Given the description of an element on the screen output the (x, y) to click on. 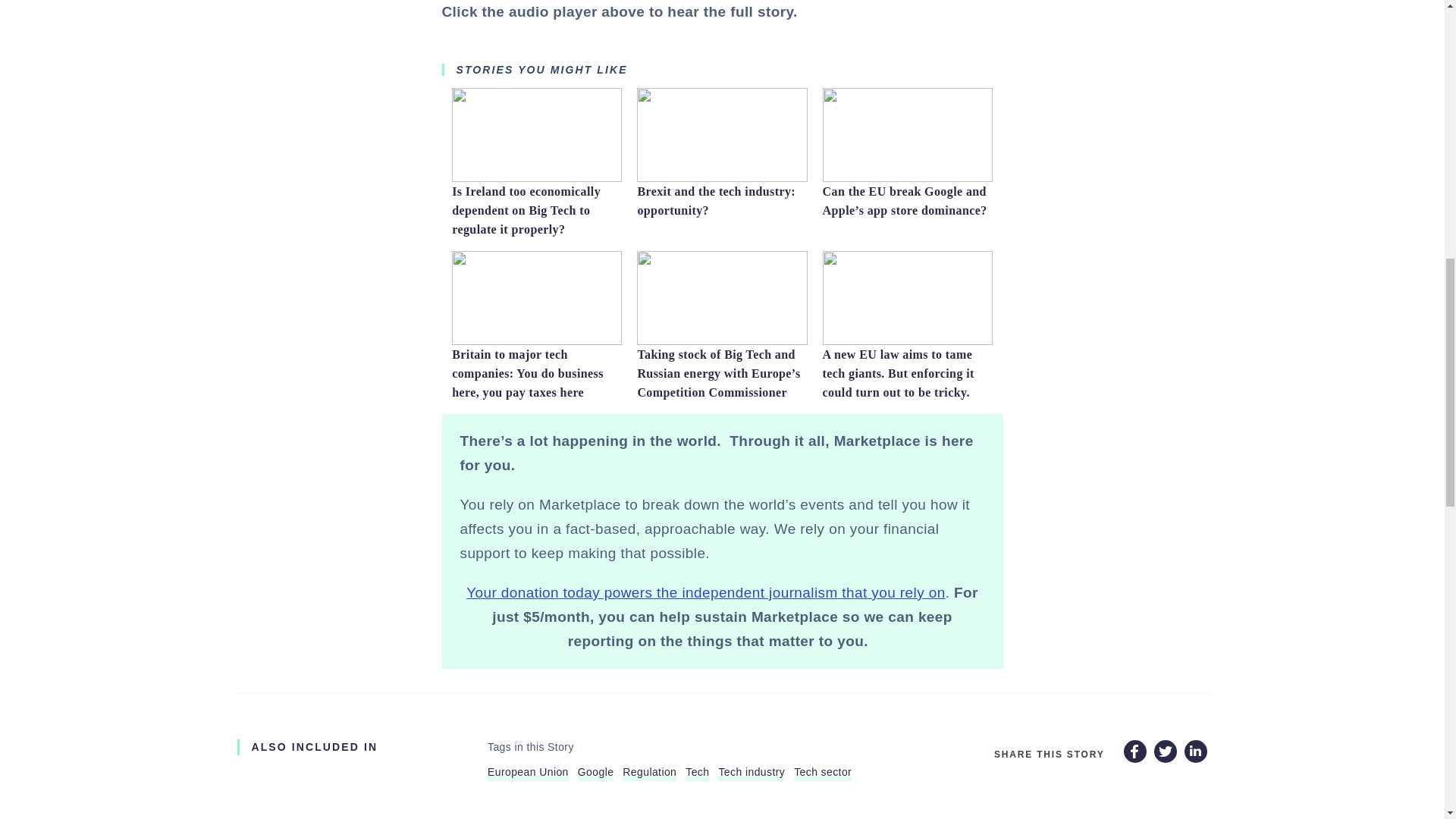
Brexit and the tech industry: opportunity? (721, 169)
